Given the description of an element on the screen output the (x, y) to click on. 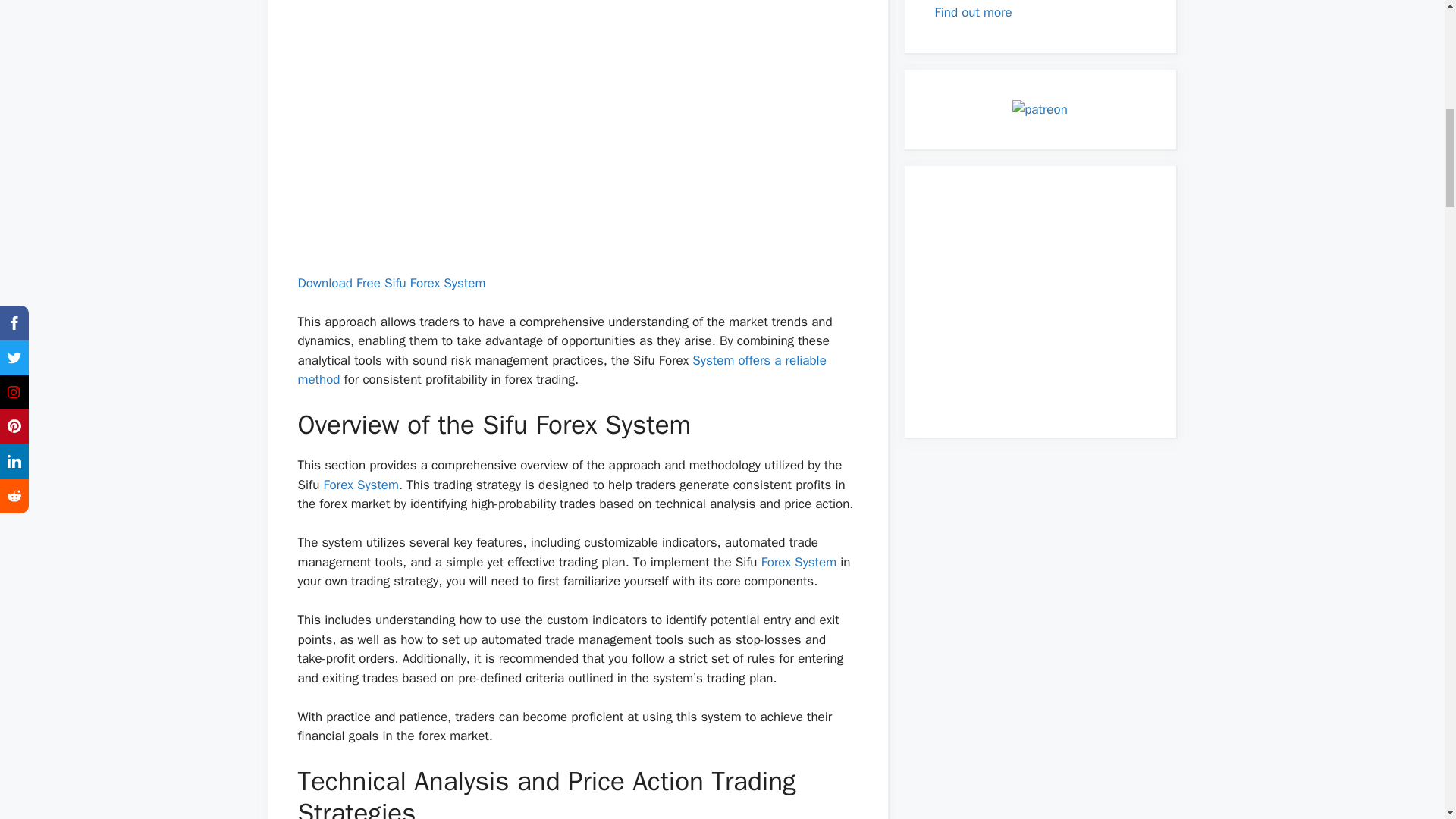
Forex System (360, 484)
System offers a reliable method (561, 370)
Download Free Sifu Forex System (390, 283)
